Given the description of an element on the screen output the (x, y) to click on. 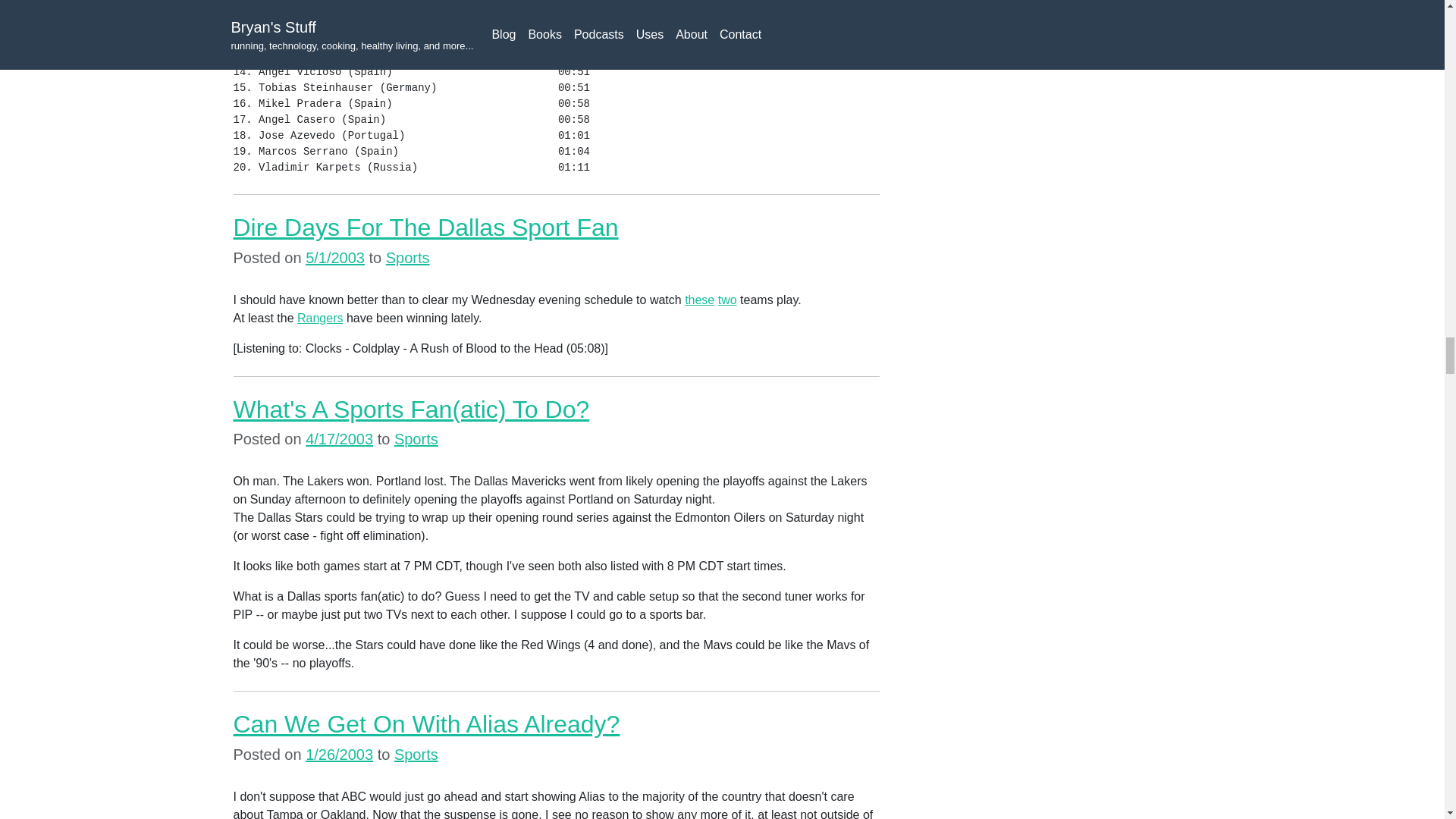
Texas Rangers Baseball (319, 318)
Dallas Mavericks Basketball (699, 299)
Dallas Stars Hockey (726, 299)
